Given the description of an element on the screen output the (x, y) to click on. 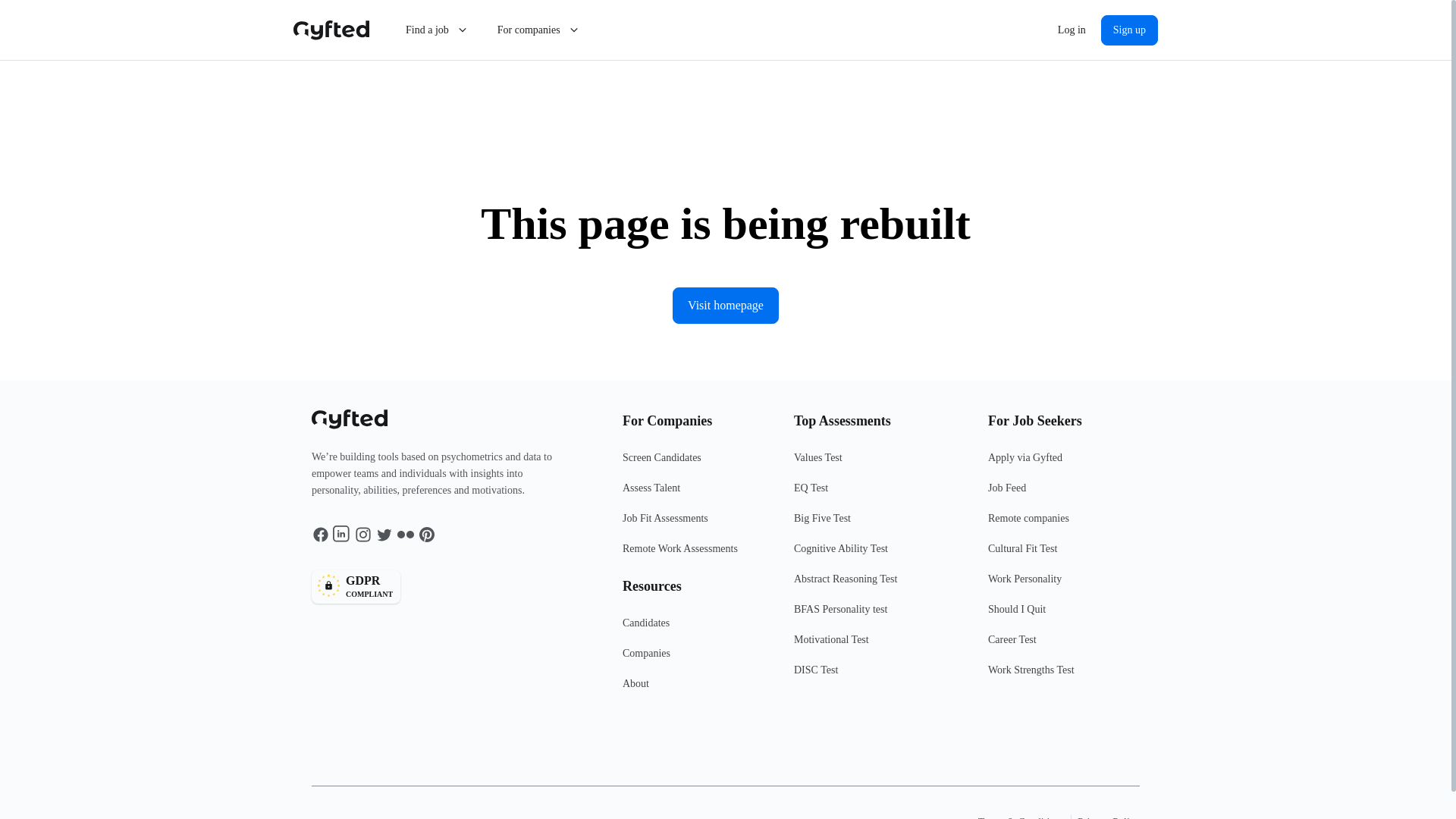
Companies (698, 659)
Big Five Test (880, 524)
Abstract Reasoning Test (880, 585)
EQ Test (880, 494)
Visit homepage (725, 305)
Motivational Test (880, 645)
Sign up (1128, 30)
BFAS Personality test (880, 615)
Assess Talent (698, 494)
Cognitive Ability Test (880, 554)
Apply via Gyfted (1064, 463)
For companies (539, 30)
Job Feed (1064, 494)
Remote Work Assessments (698, 554)
Find a job (437, 30)
